Given the description of an element on the screen output the (x, y) to click on. 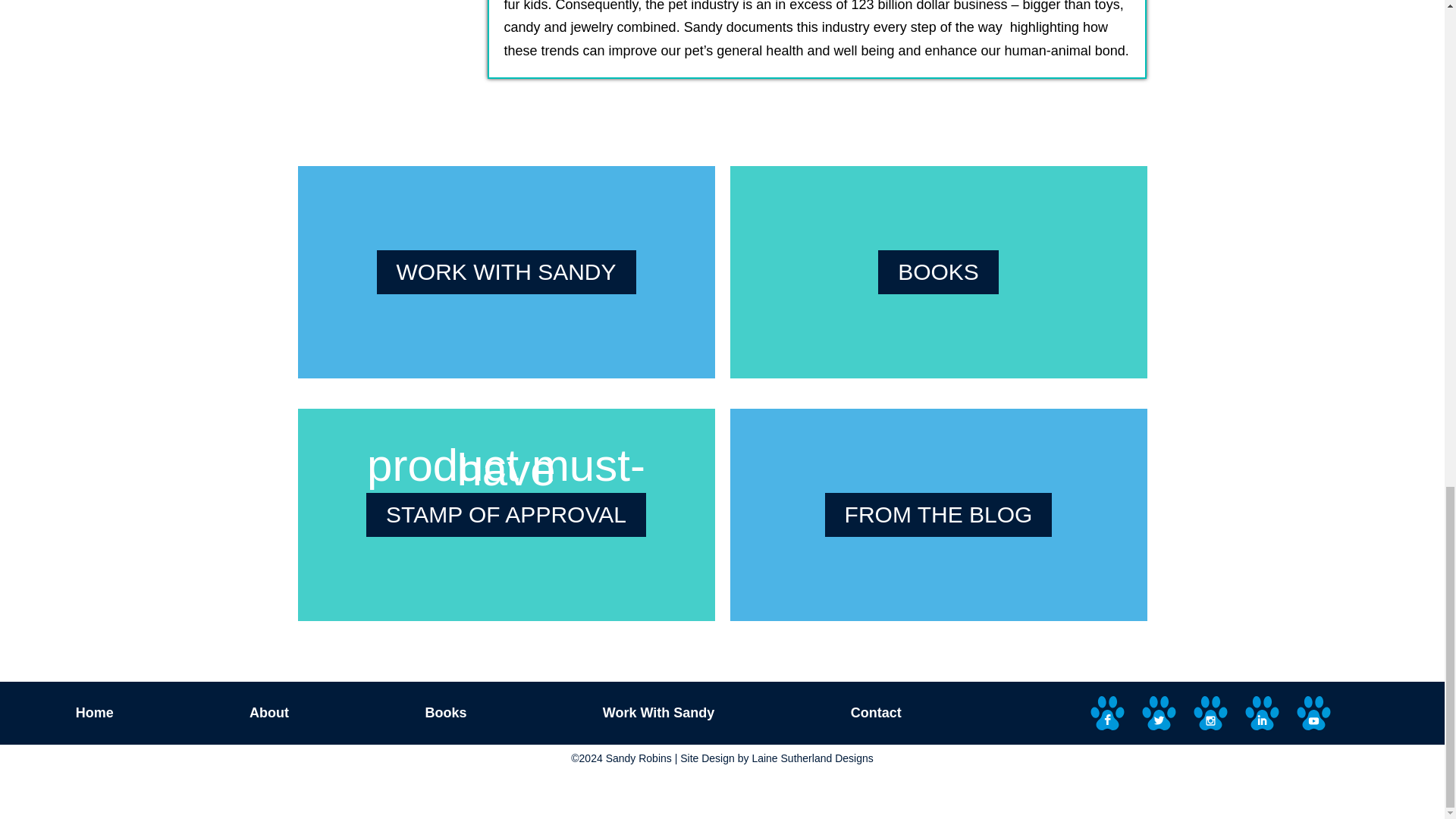
WORK WITH SANDY (504, 272)
BOOKS (937, 272)
Sandy Robins (638, 758)
FROM THE BLOG (938, 515)
Work With Sandy (658, 712)
Contact (876, 712)
About (268, 712)
Home (93, 712)
Books (445, 712)
Laine Sutherland Designs (811, 758)
